Given the description of an element on the screen output the (x, y) to click on. 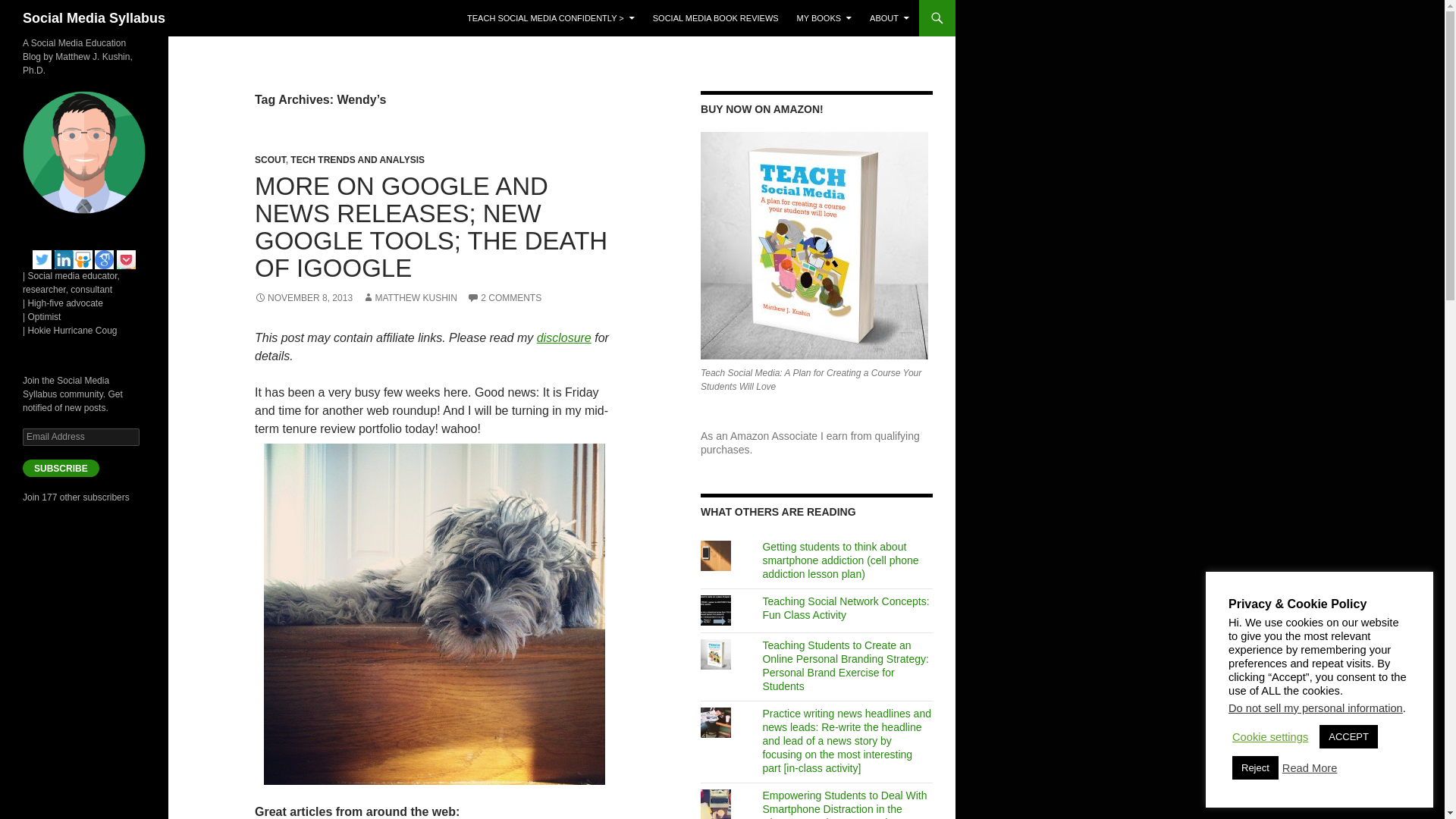
SOCIAL MEDIA BOOK REVIEWS (715, 18)
MY BOOKS (823, 18)
Social Media Syllabus (94, 18)
ABOUT (889, 18)
Teaching Social Network Concepts: Fun Class Activity (844, 607)
